Given the description of an element on the screen output the (x, y) to click on. 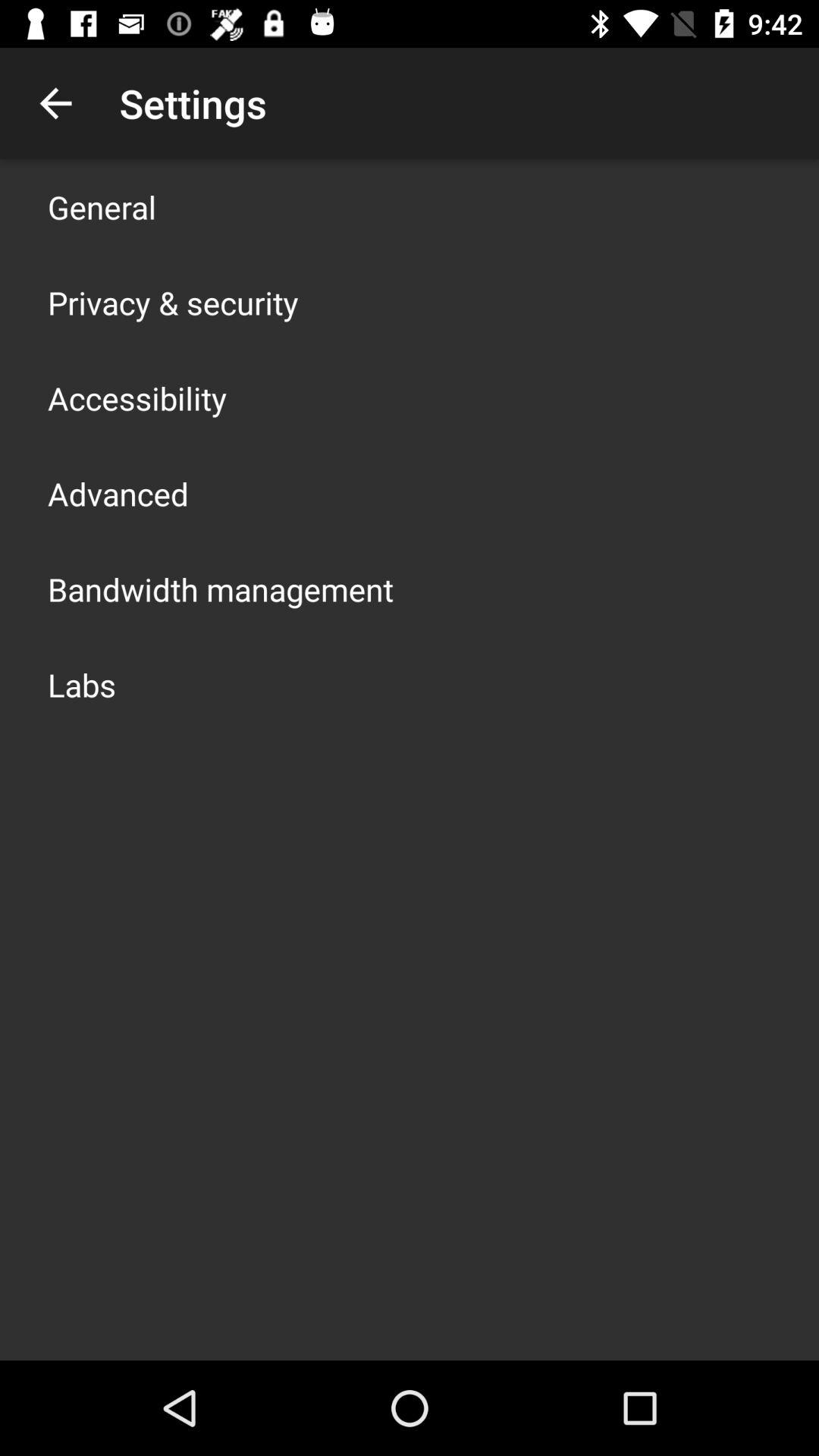
open advanced icon (117, 493)
